Given the description of an element on the screen output the (x, y) to click on. 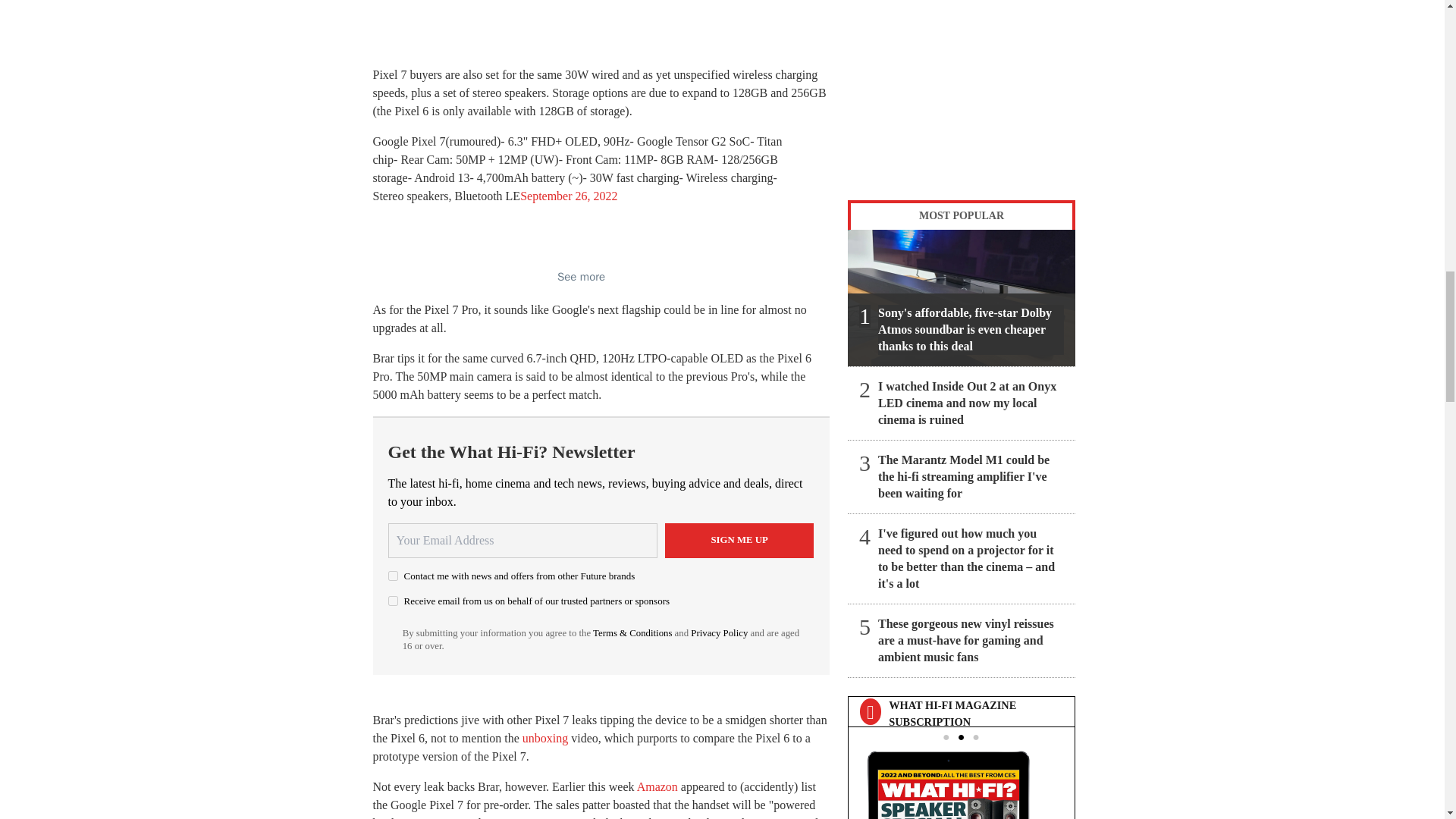
on (392, 575)
Sign me up (739, 540)
on (392, 601)
